Given the description of an element on the screen output the (x, y) to click on. 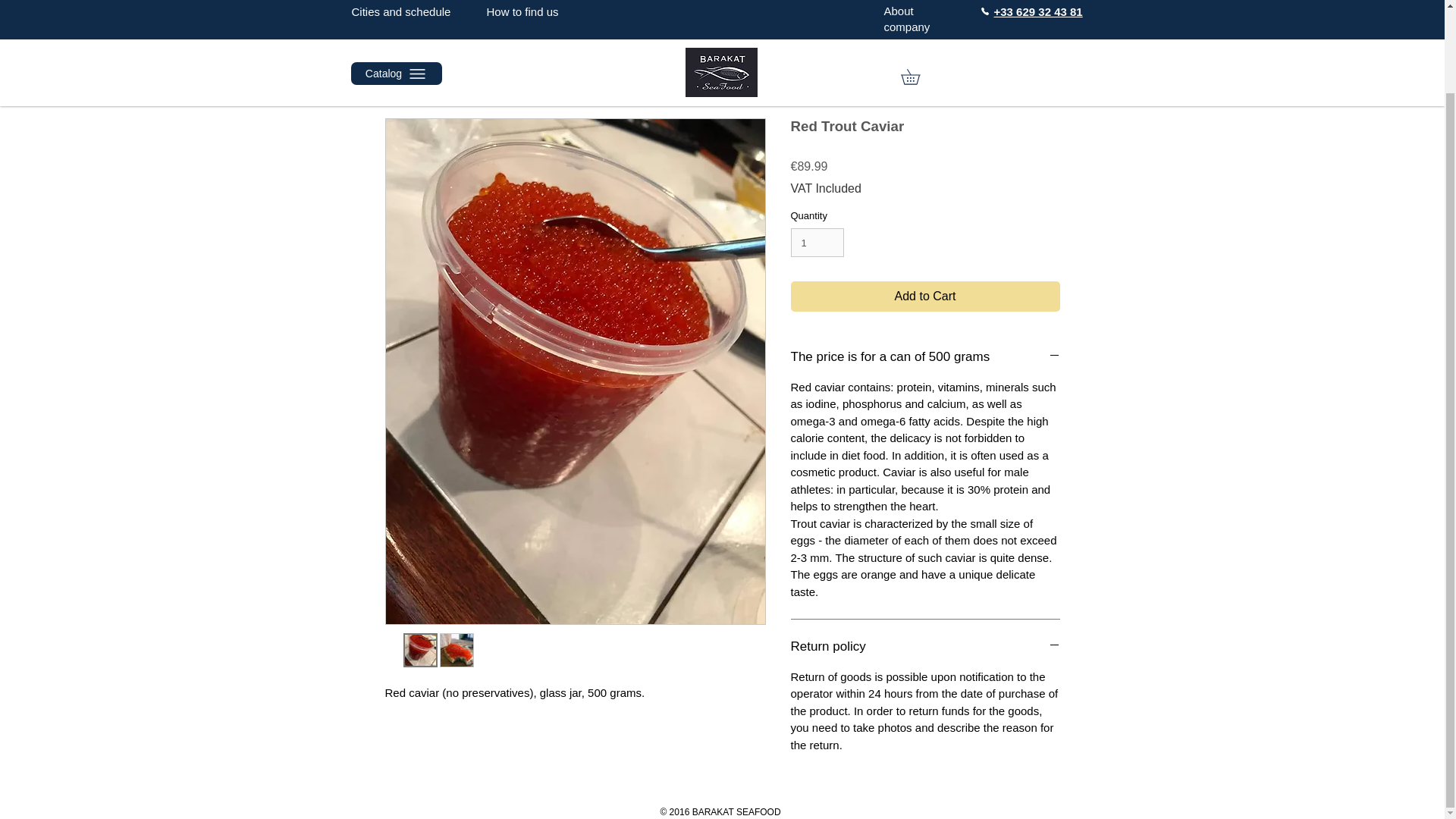
Return policy (924, 647)
1 (817, 242)
Add to Cart (924, 296)
The price is for a can of 500 grams (924, 357)
